Given the description of an element on the screen output the (x, y) to click on. 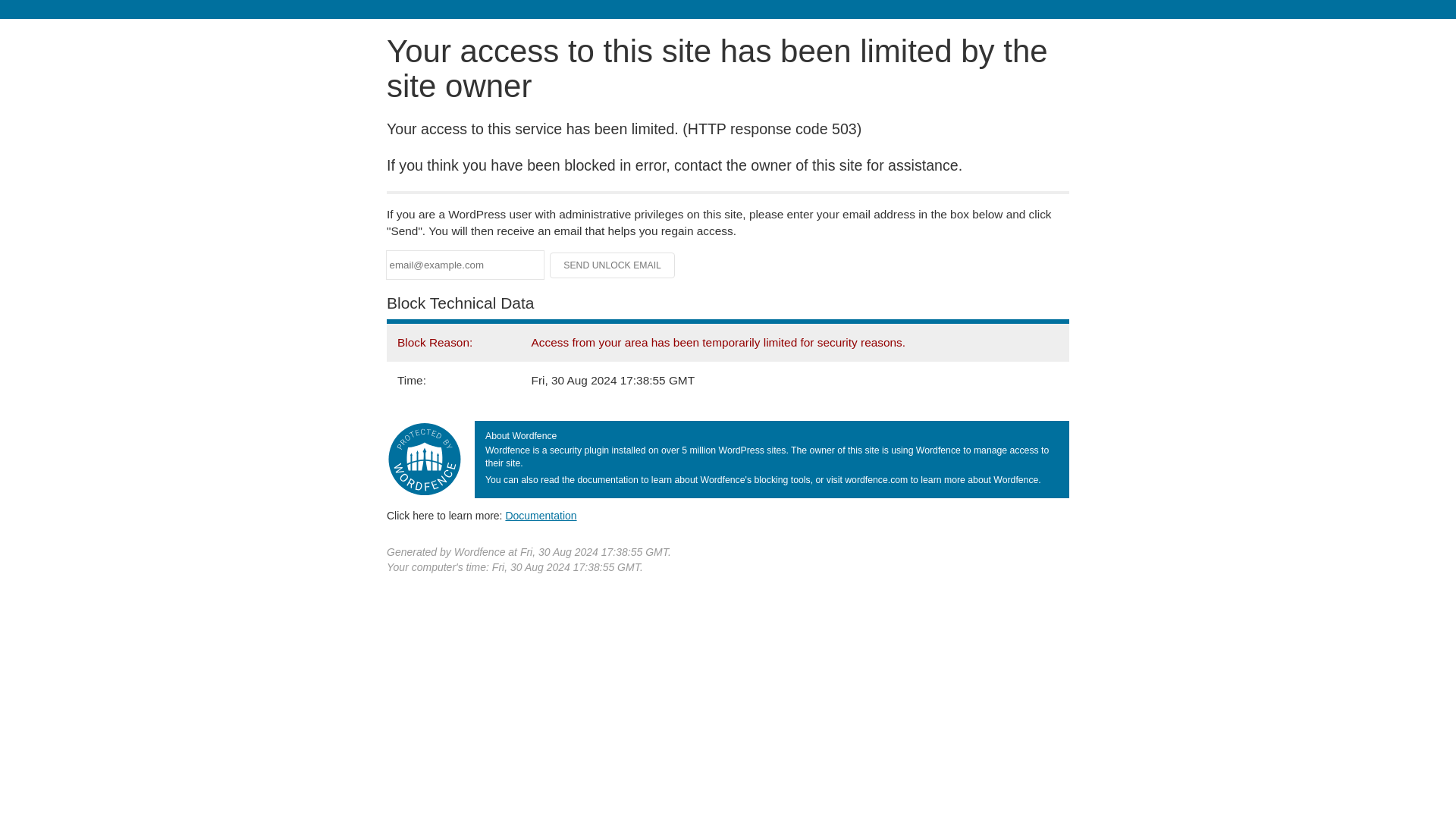
Send Unlock Email (612, 265)
Send Unlock Email (612, 265)
Documentation (540, 515)
